Given the description of an element on the screen output the (x, y) to click on. 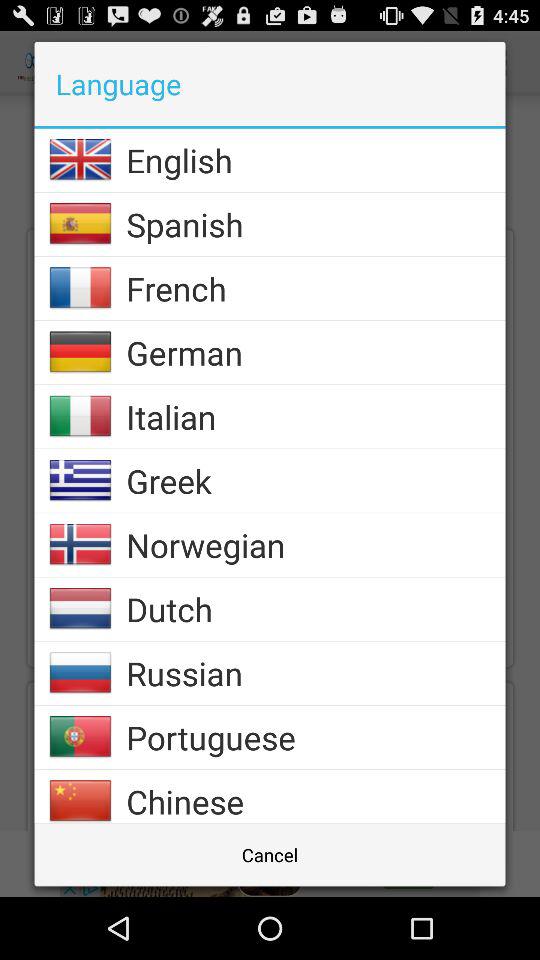
turn on icon below french (315, 352)
